Given the description of an element on the screen output the (x, y) to click on. 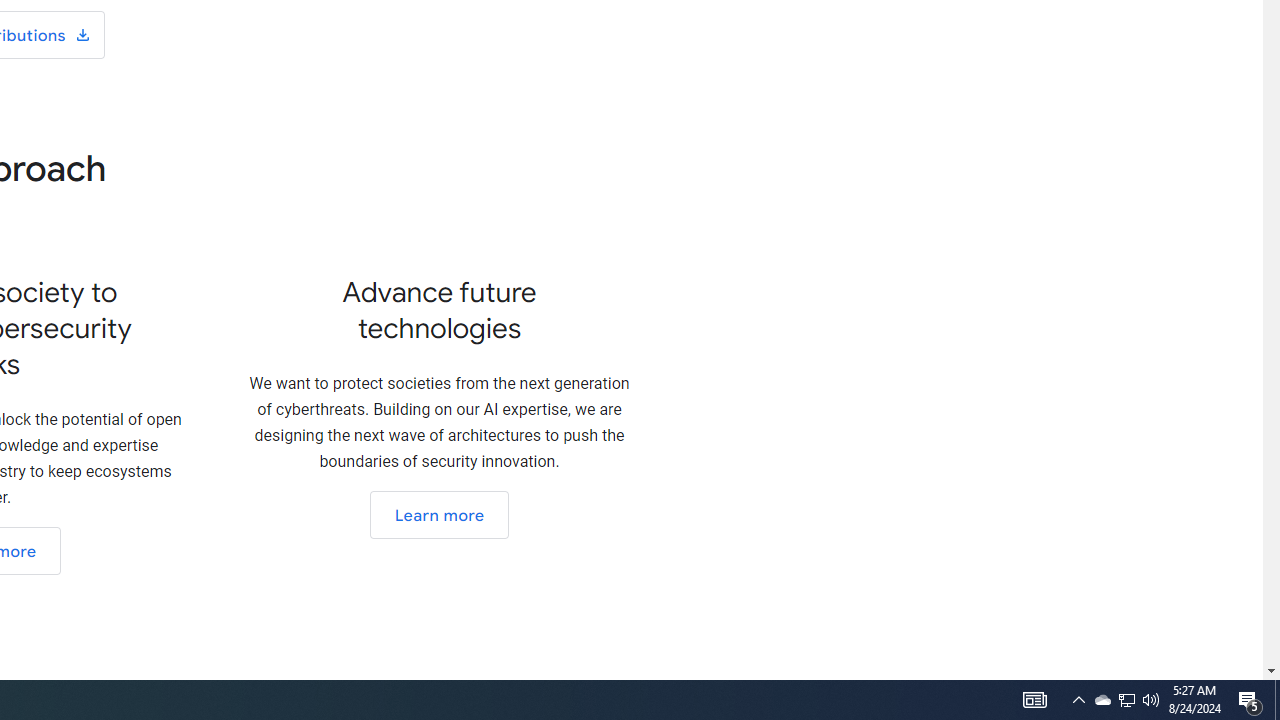
Go to our cybersecurity section (438, 515)
